Given the description of an element on the screen output the (x, y) to click on. 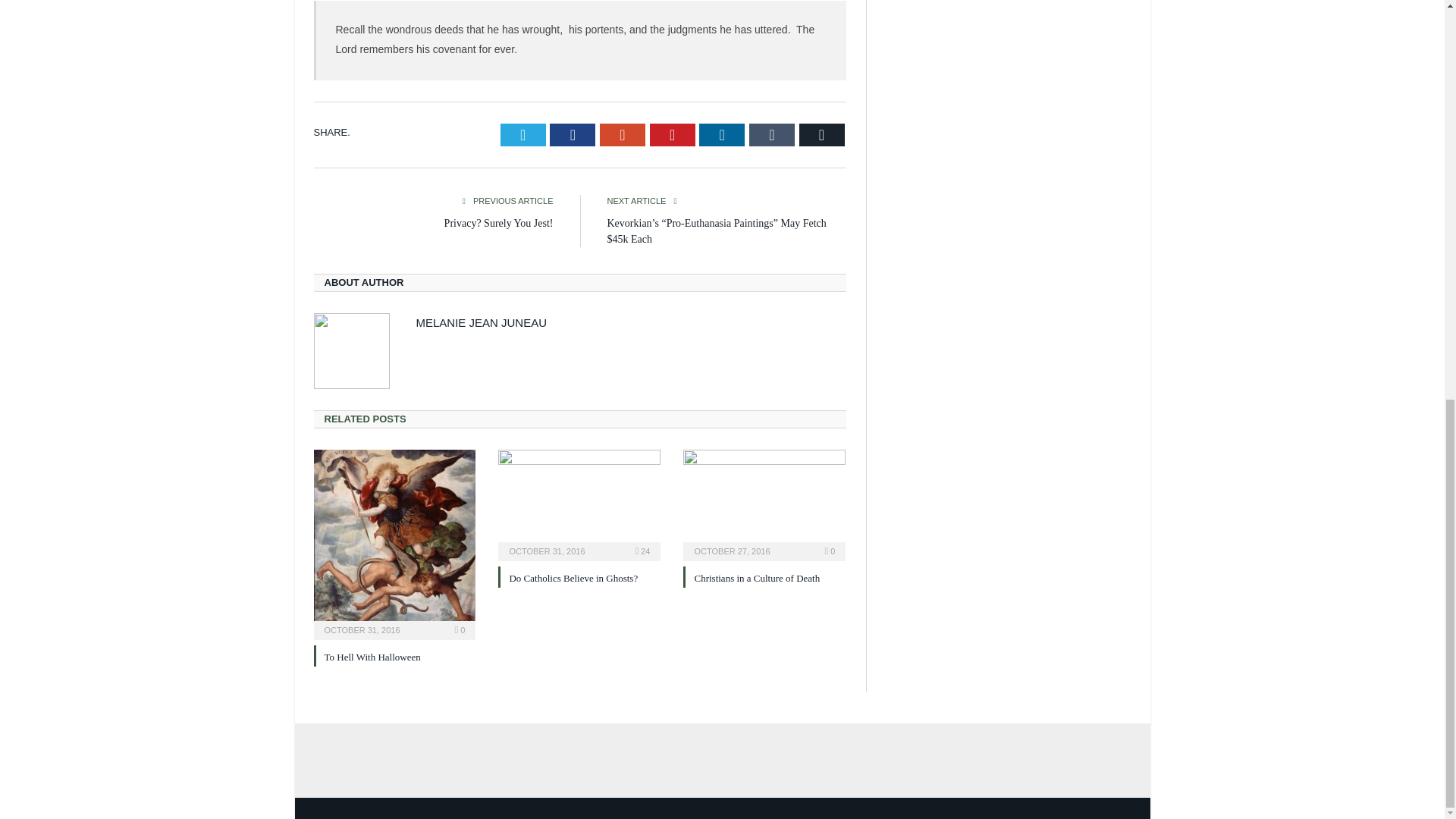
LinkedIn (721, 134)
Pinterest (672, 134)
Twitter (523, 134)
MELANIE JEAN JUNEAU (480, 322)
Tumblr (771, 134)
Privacy? Surely You Jest! (498, 223)
Facebook (572, 134)
Email (821, 134)
